Given the description of an element on the screen output the (x, y) to click on. 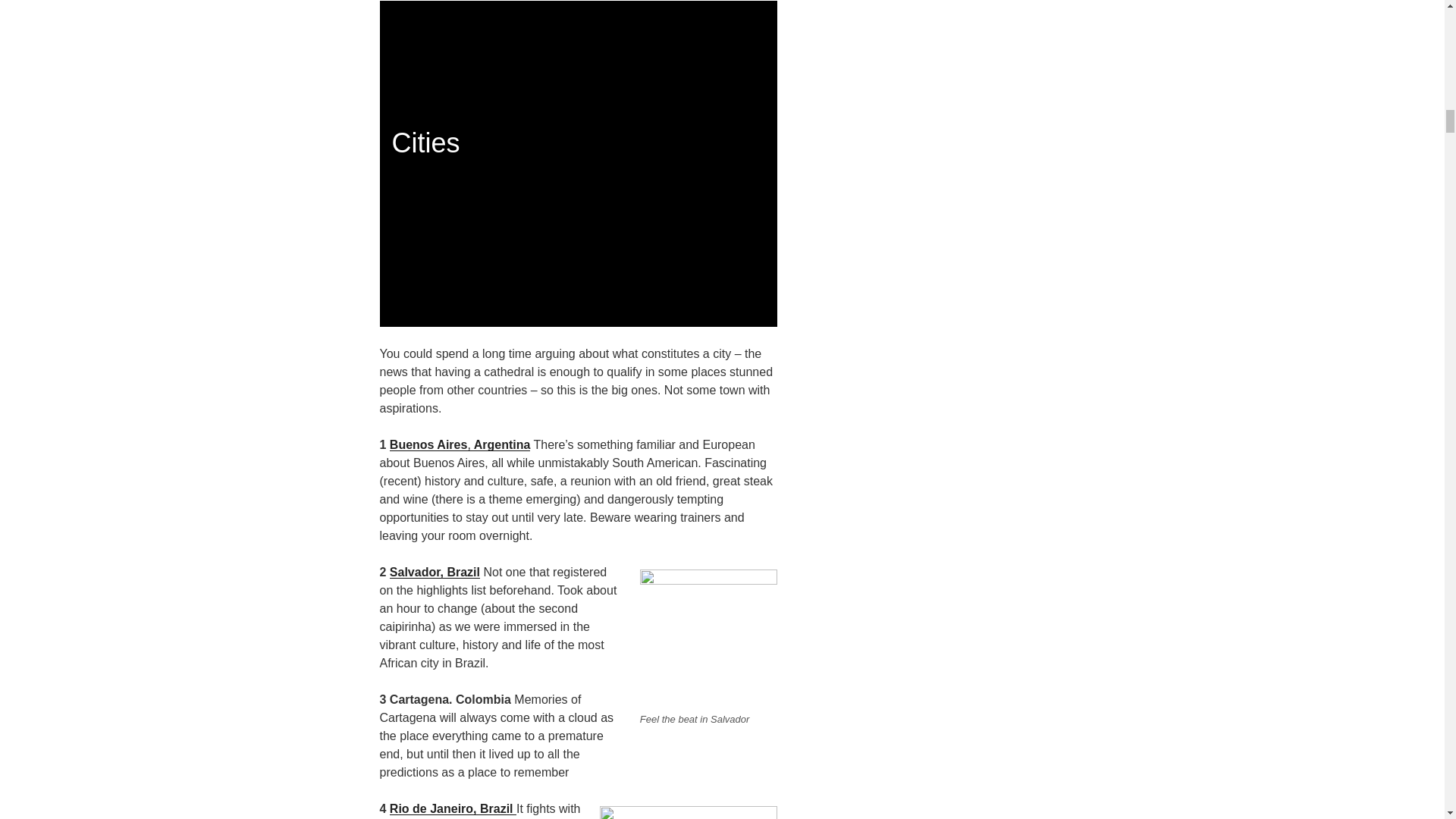
Buenos Aires, Argentina (460, 444)
Salvador, Brazil (435, 571)
Rio de Janeiro, Brazil (453, 808)
